Given the description of an element on the screen output the (x, y) to click on. 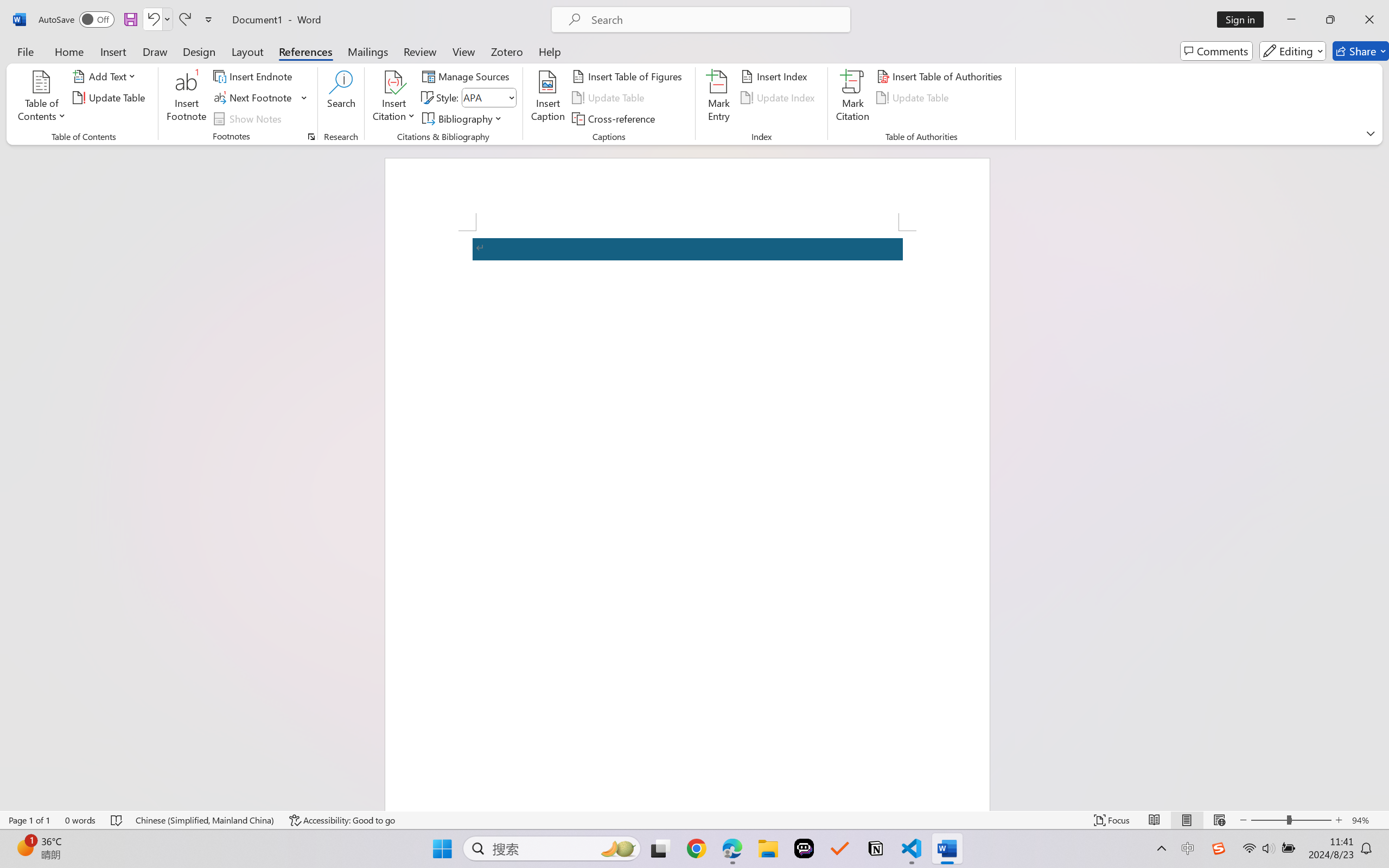
Style (488, 97)
Language Chinese (Simplified, Mainland China) (205, 819)
Insert Caption... (547, 97)
Update Index (778, 97)
